Given the description of an element on the screen output the (x, y) to click on. 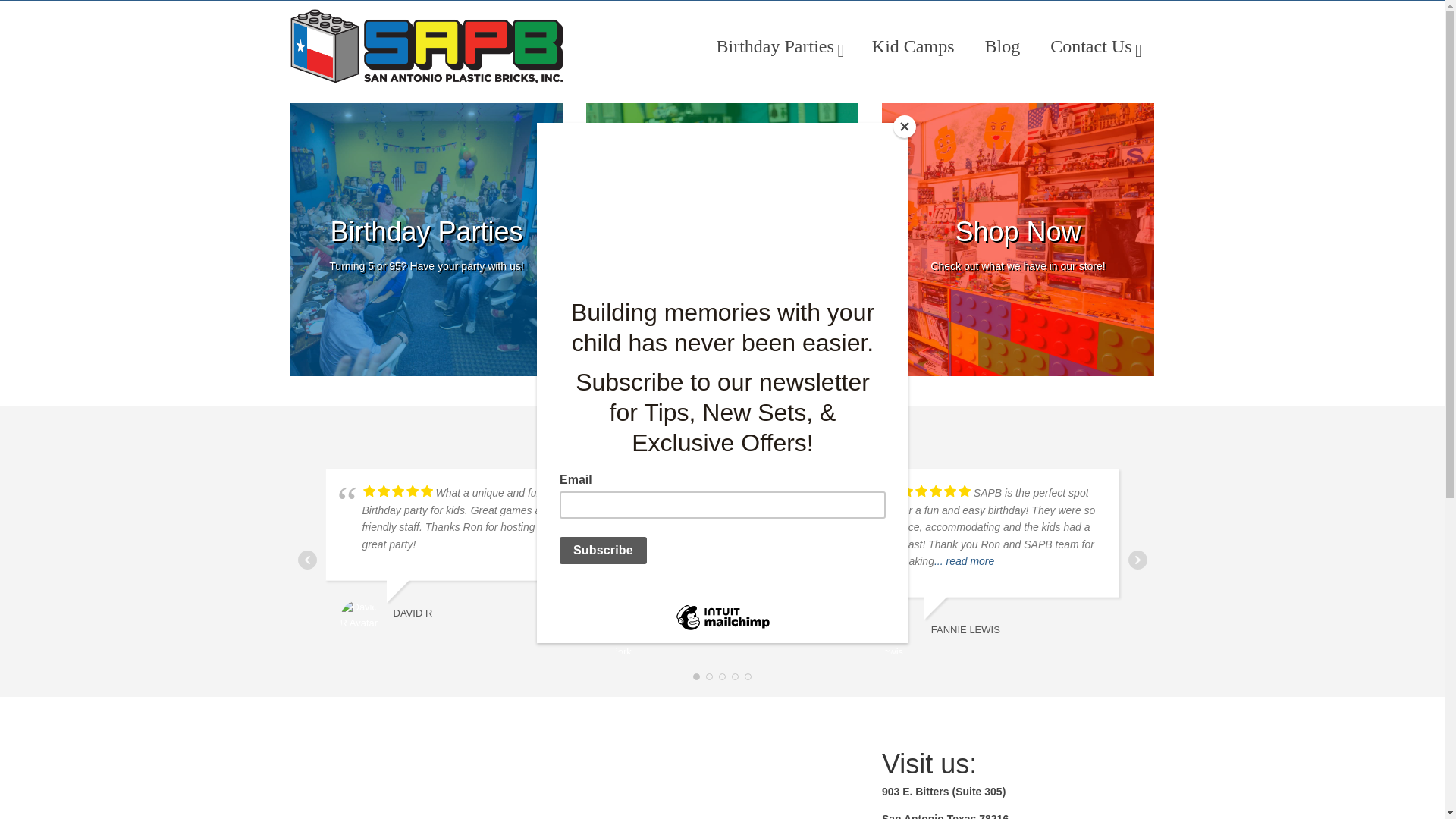
Kid Camps (425, 239)
Birthday Parties (722, 239)
San Antonio Plastic Bricks (913, 45)
Contact Us (778, 45)
... read more (1017, 239)
... read more (425, 45)
